Given the description of an element on the screen output the (x, y) to click on. 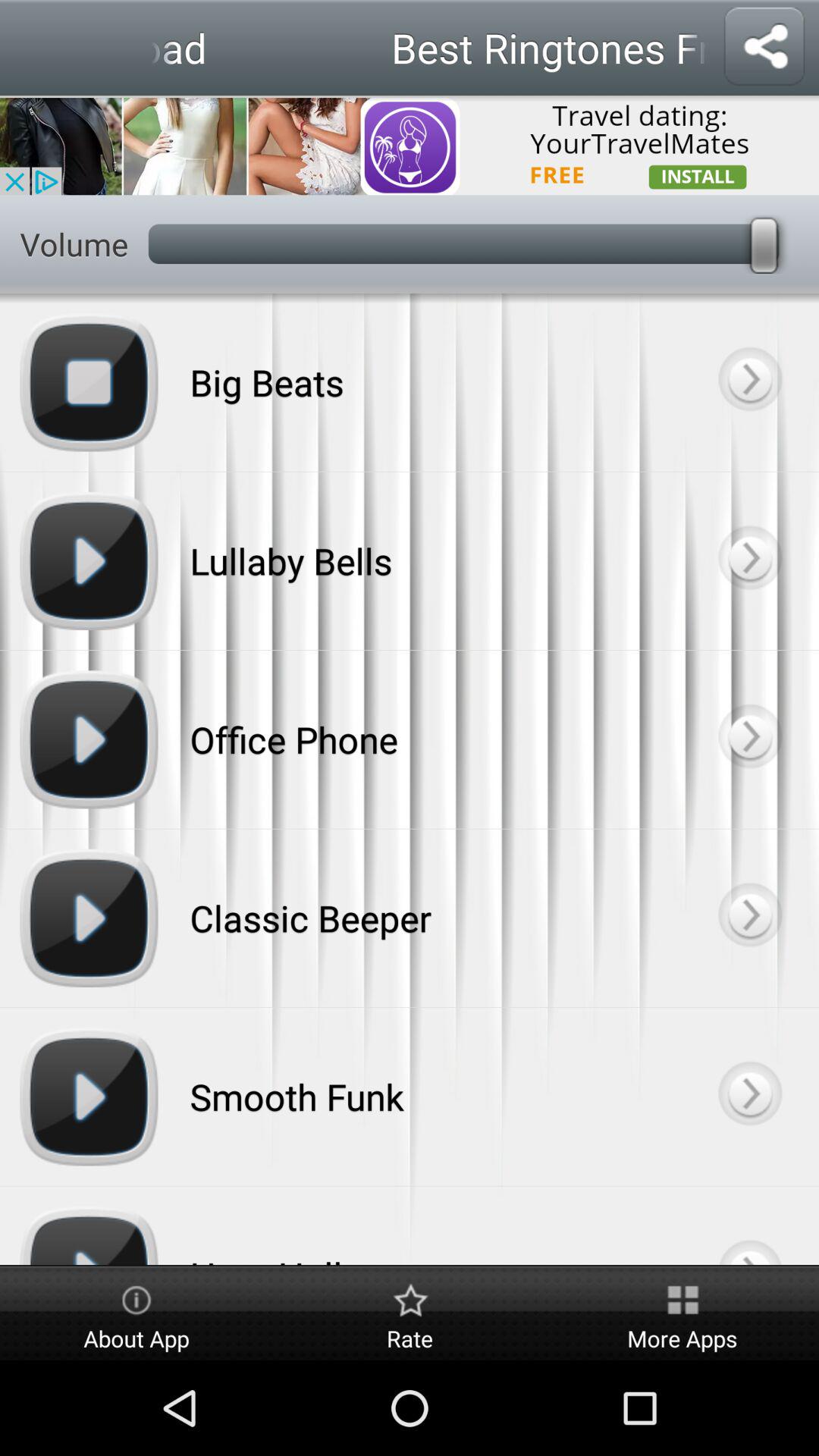
go to options page (749, 561)
